Given the description of an element on the screen output the (x, y) to click on. 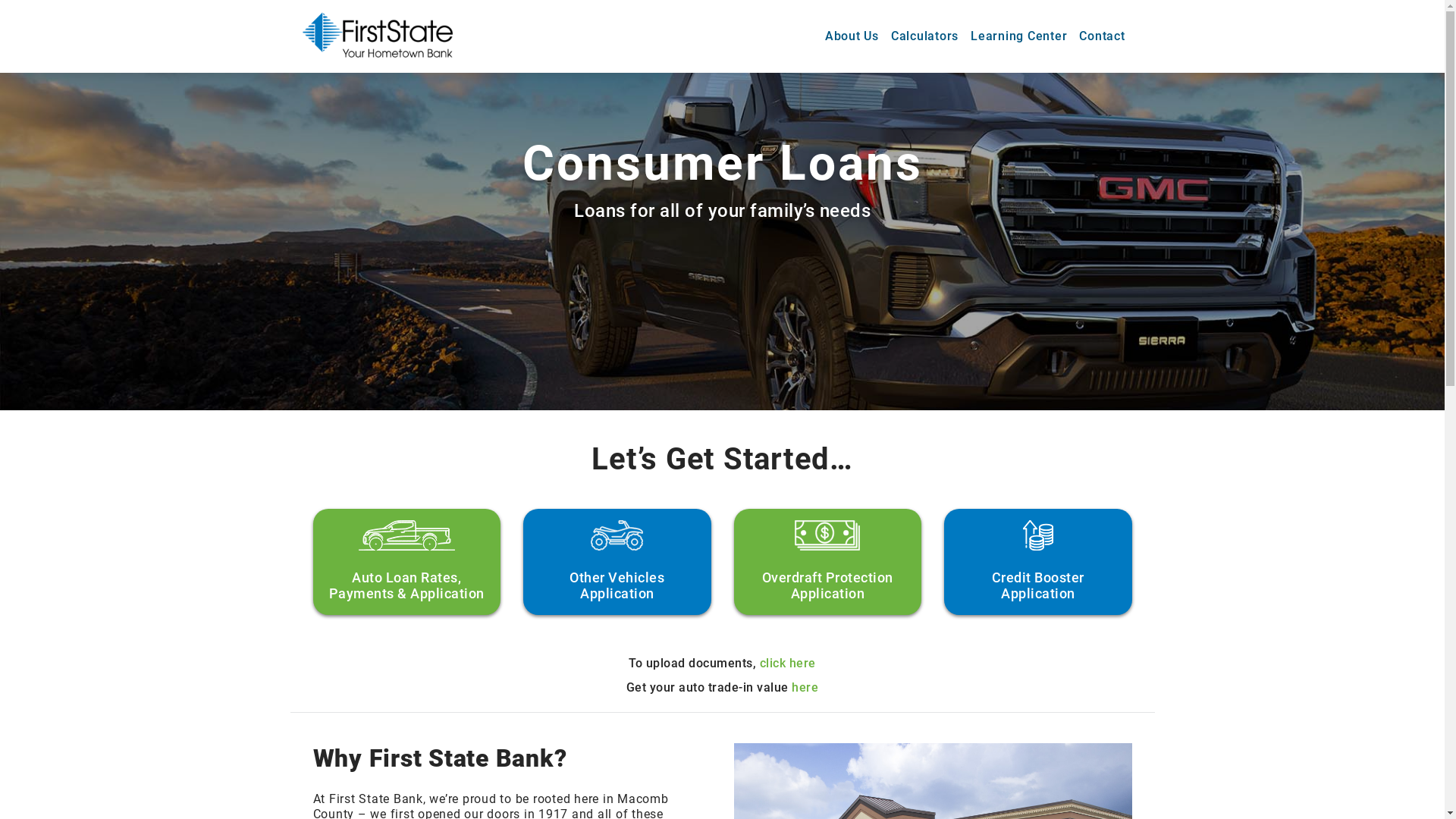
Calculators Element type: text (924, 36)
Other Vehicles Application Element type: text (617, 561)
Credit Booster Application Element type: text (1038, 561)
Auto Loan Rates, Payments & Application Element type: text (406, 561)
click here Element type: text (787, 662)
Overdraft Protection Application Element type: text (828, 561)
About Us Element type: text (851, 36)
Contact Element type: text (1101, 36)
Learning Center Element type: text (1018, 36)
here Element type: text (804, 687)
